Given the description of an element on the screen output the (x, y) to click on. 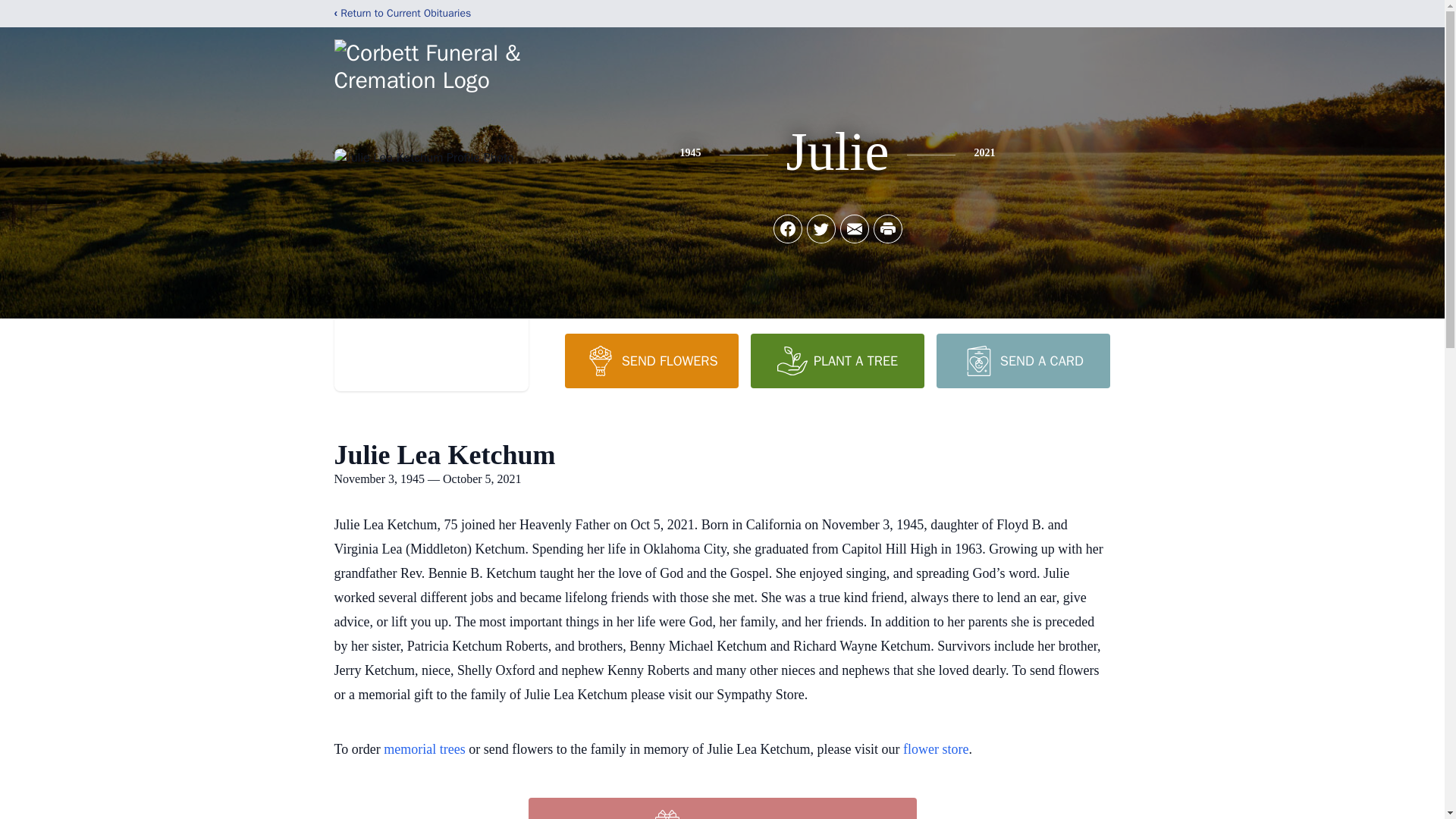
SEND FLOWERS (651, 360)
SEND WITH LOVE (721, 808)
PLANT A TREE (837, 360)
memorial trees (424, 749)
SEND A CARD (1022, 360)
flower store (935, 749)
